Given the description of an element on the screen output the (x, y) to click on. 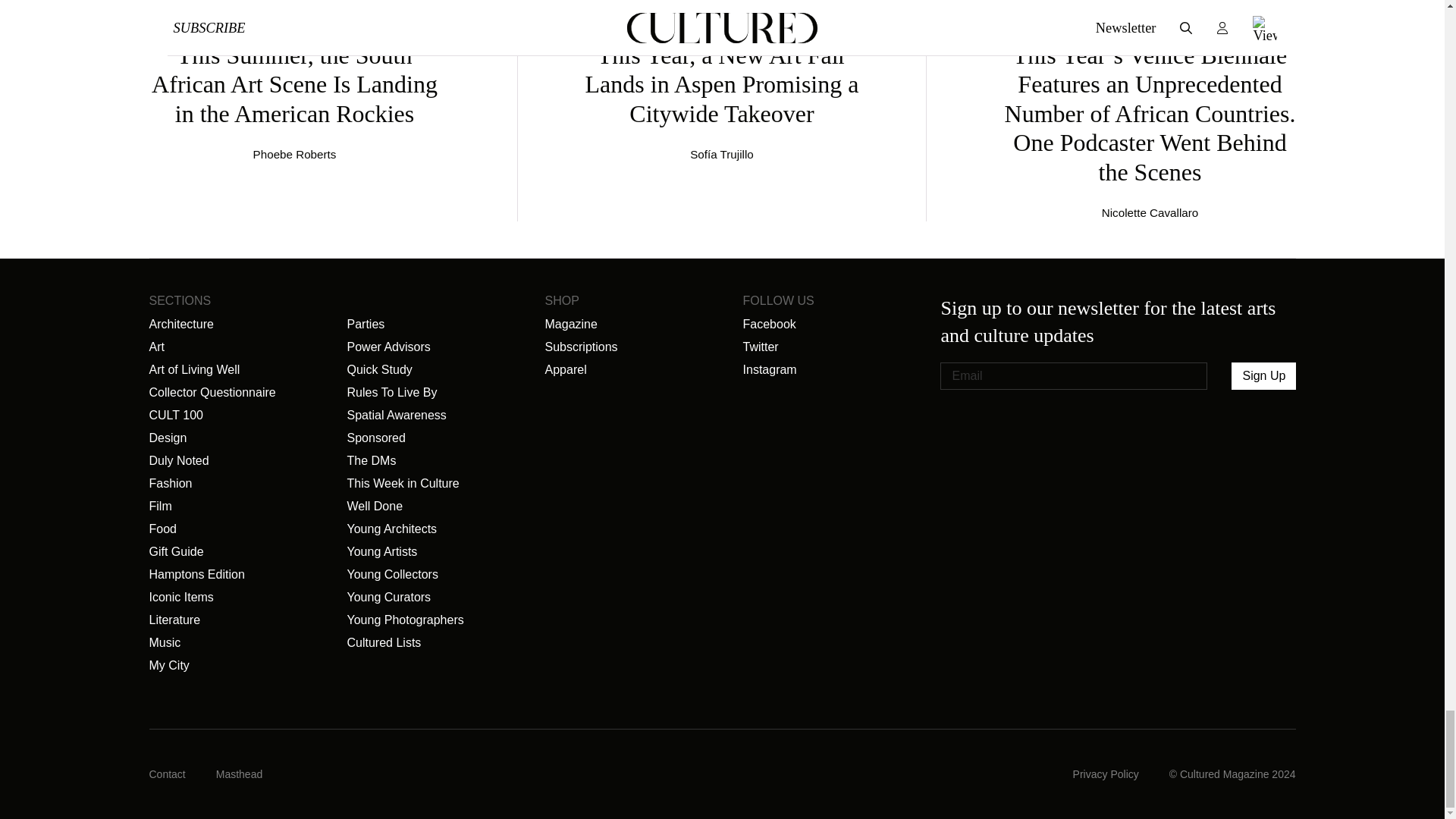
Sign Up (1263, 375)
